Given the description of an element on the screen output the (x, y) to click on. 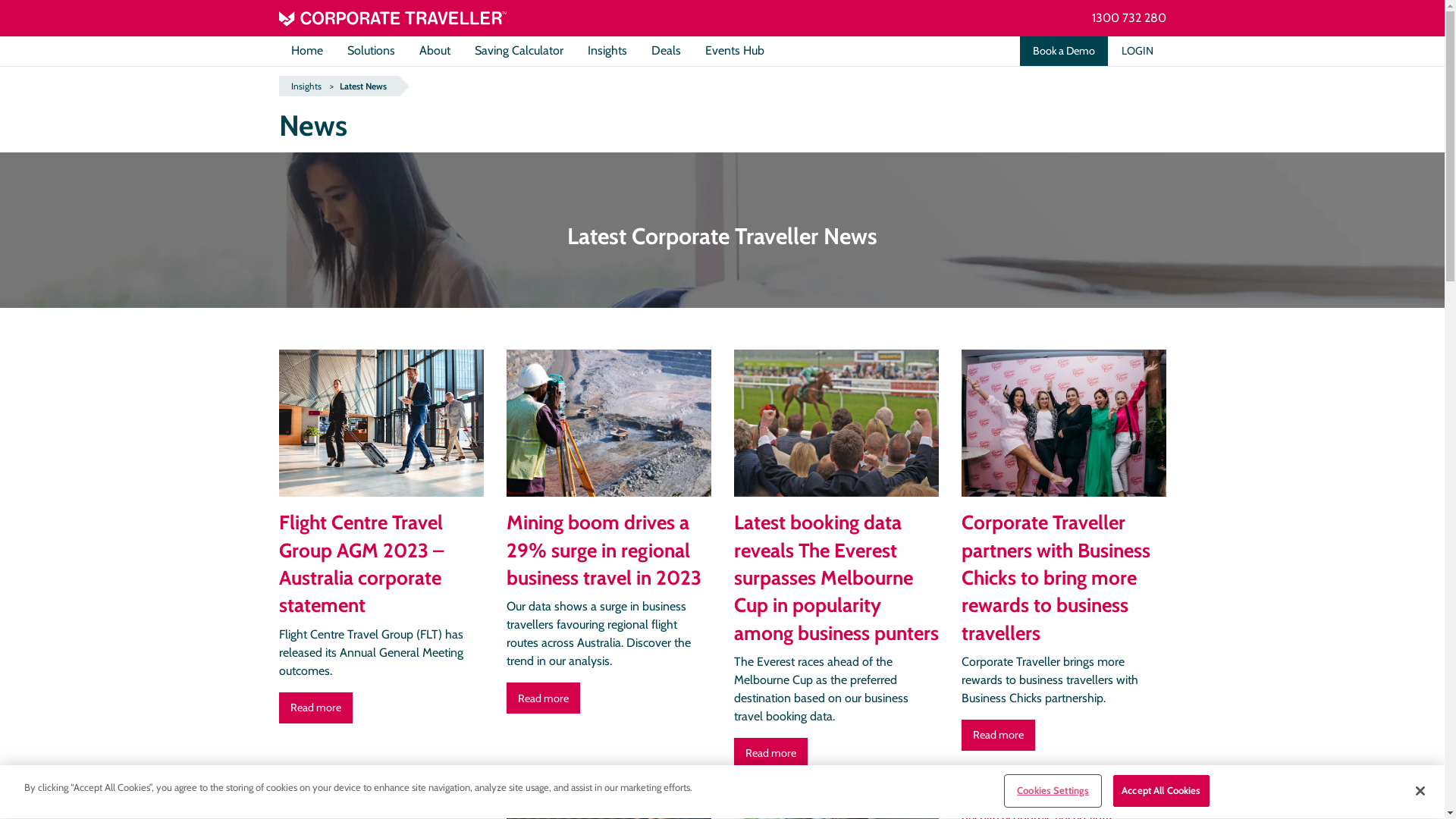
Accept All Cookies Element type: text (1160, 790)
Home Element type: text (307, 50)
Skip to main content Element type: text (0, 0)
Cookies Settings Element type: text (1052, 790)
Book a Demo Element type: text (1063, 50)
Events Hub Element type: text (734, 50)
1300 732 280 Element type: text (1129, 17)
Saving Calculator Element type: text (518, 50)
Solutions Element type: text (371, 50)
LOGIN Element type: text (1137, 50)
Deals Element type: text (665, 50)
Insights Element type: text (306, 85)
Insights Element type: text (606, 50)
About Element type: text (433, 50)
